Given the description of an element on the screen output the (x, y) to click on. 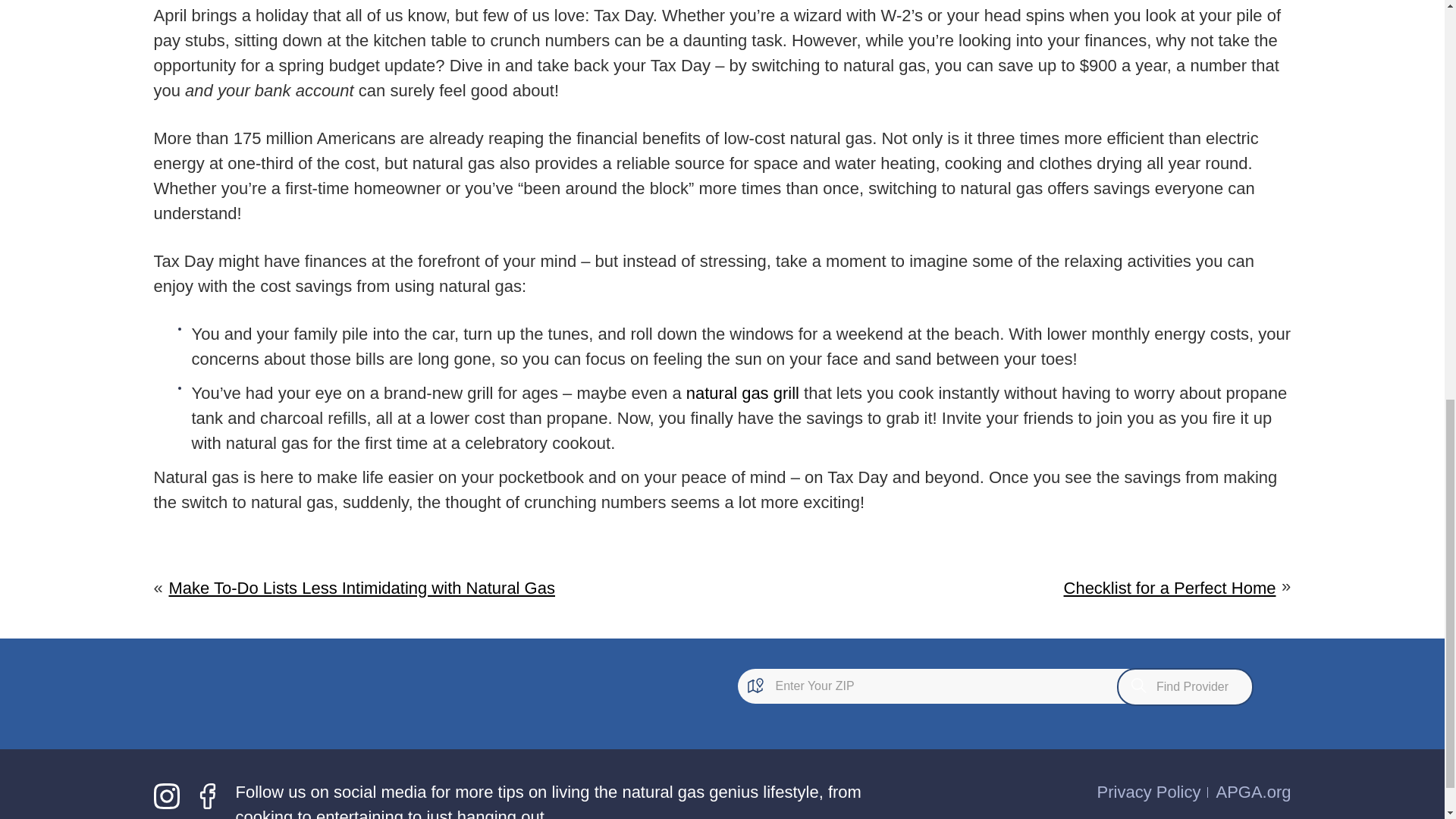
Find Provider (1184, 686)
Checklist for a Perfect Home (1170, 587)
Privacy Policy (1149, 791)
Make To-Do Lists Less Intimidating with Natural Gas (361, 587)
Find Provider (1184, 686)
natural gas grill (742, 393)
APGA.org (1252, 791)
